Given the description of an element on the screen output the (x, y) to click on. 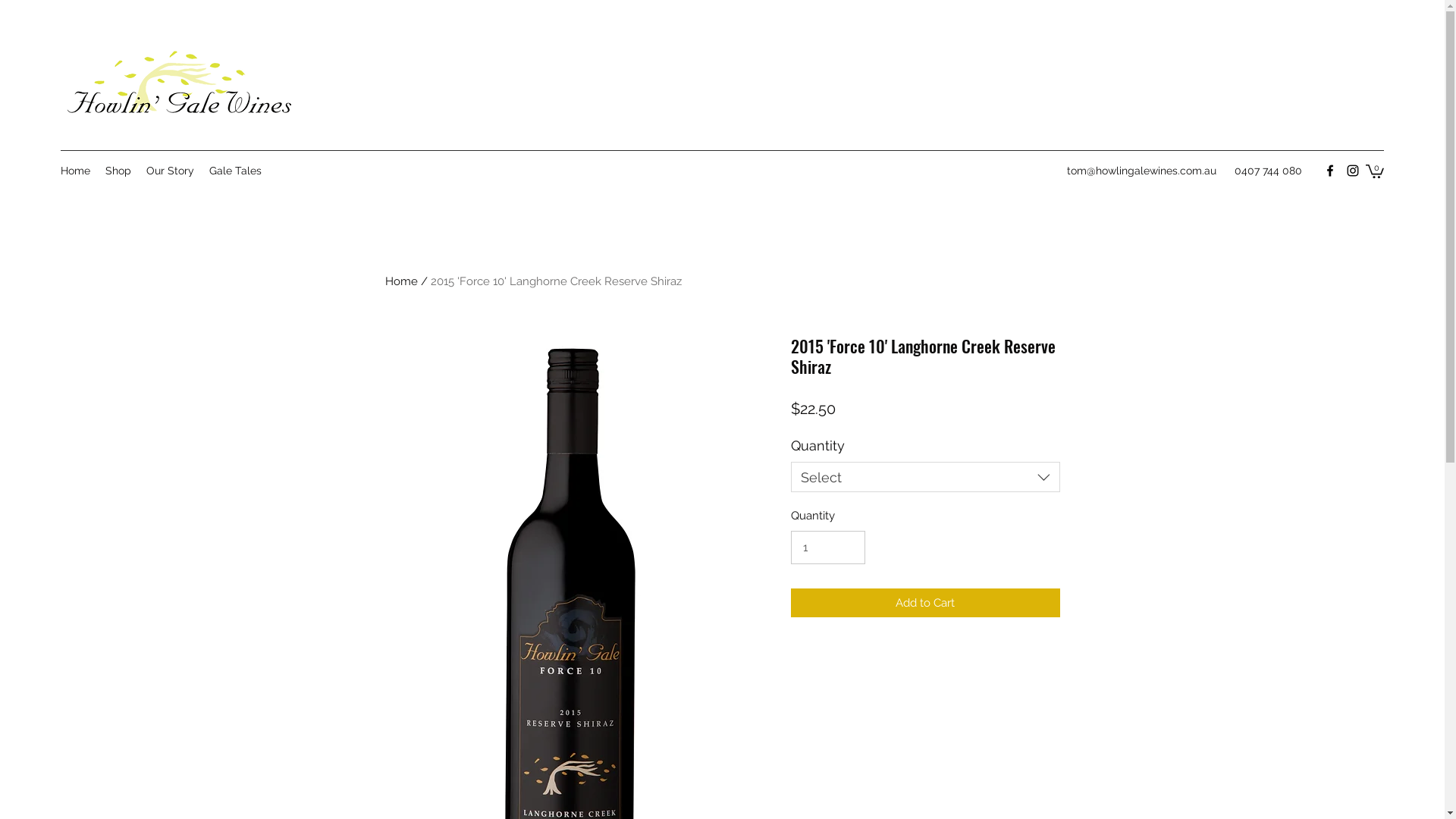
Add to Cart Element type: text (924, 603)
Home Element type: text (75, 170)
2015 'Force 10' Langhorne Creek Reserve Shiraz Element type: text (555, 281)
tom@howlingalewines.com.au Element type: text (1141, 170)
Our Story Element type: text (169, 170)
Select Element type: text (924, 476)
0 Element type: text (1374, 170)
Home Element type: text (401, 281)
Shop Element type: text (117, 170)
Gale Tales Element type: text (235, 170)
